Given the description of an element on the screen output the (x, y) to click on. 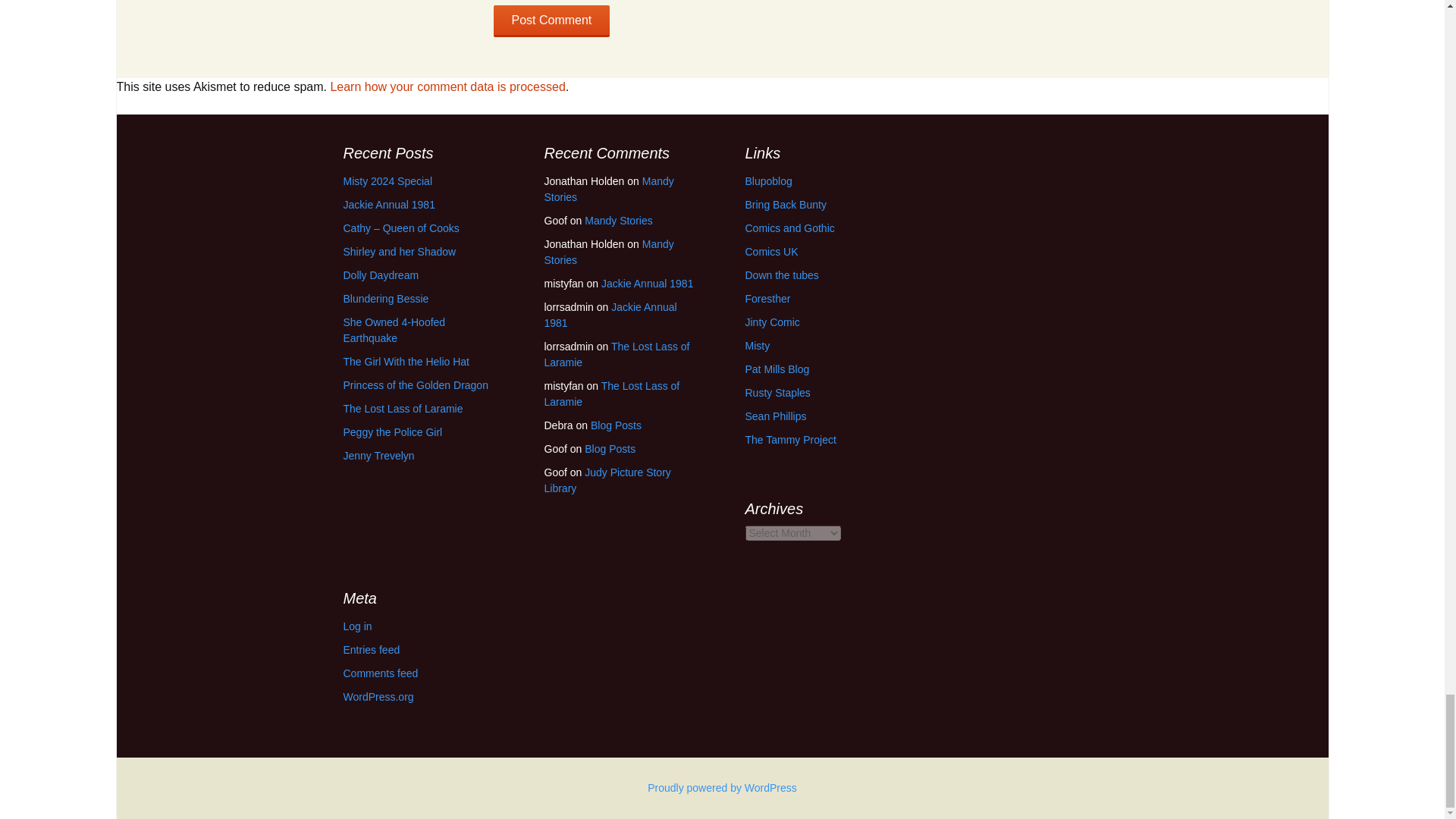
Judy artist blog (775, 416)
Post Comment (551, 20)
British comics forum (781, 275)
Blog about IPC published Tammy comic (789, 439)
A site dedicated to IPC comic Misty (757, 345)
Cool blog on girls comics  (768, 181)
Resource guide to Jinty (771, 322)
Mike discusses british comics, including some family trees. (776, 392)
Pat Mills Writer of stories from Misty, Tammy and 2000AD (776, 369)
